Given the description of an element on the screen output the (x, y) to click on. 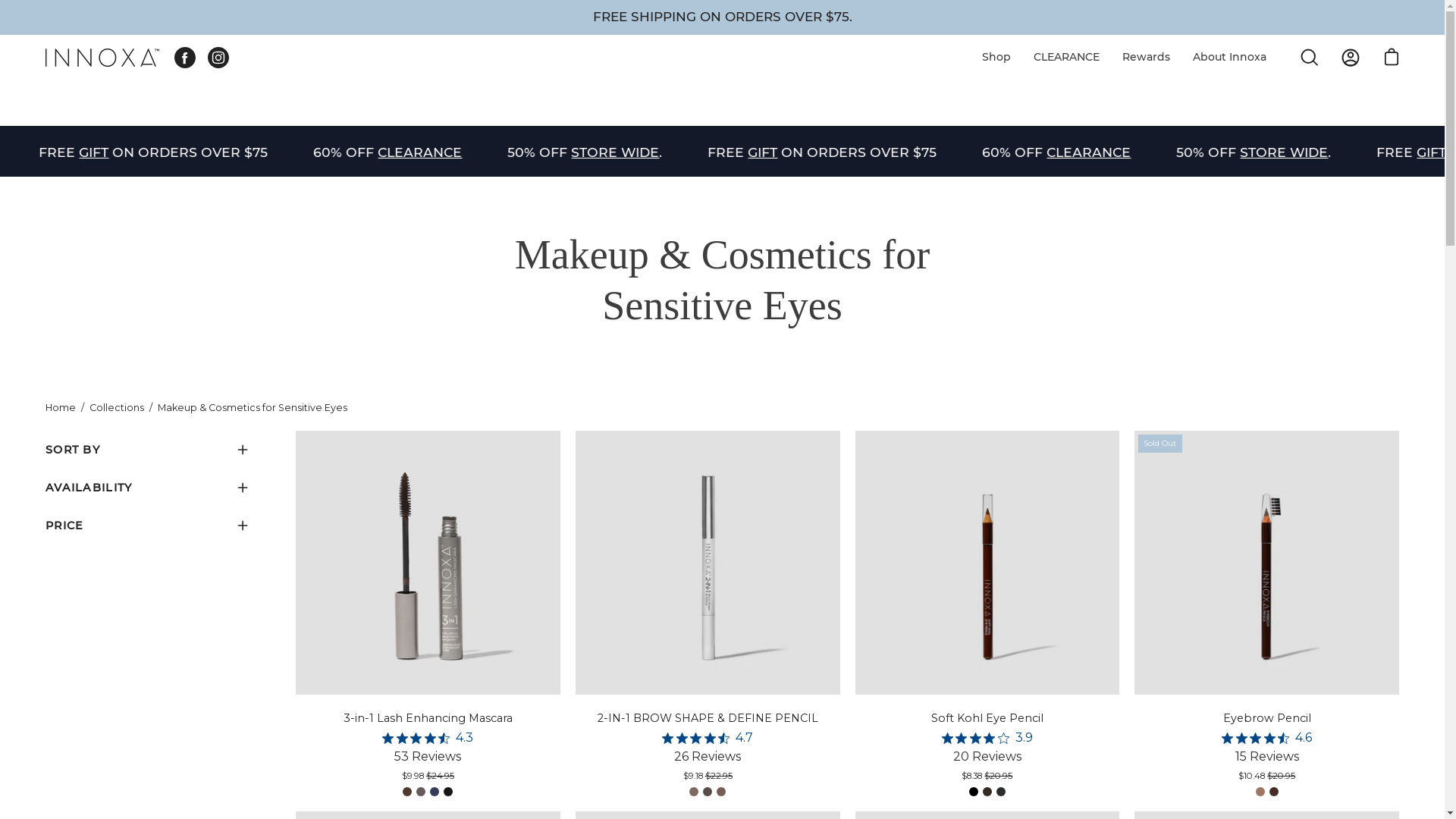
$8.38 $20.95 Element type: text (987, 776)
View Innoxa on Facebook Element type: hover (184, 57)
$9.18 $22.95 Element type: text (707, 776)
3-in-1 Lash Enhancing Mascara Element type: text (427, 718)
Soft Kohl Eye Pencil - Jet Black Element type: text (973, 791)
OPEN CART Element type: text (1391, 57)
AVAILABILITY Element type: text (147, 487)
3-in-1 Lash Enhancing Mascara - Navy Element type: text (434, 791)
Rewards Element type: text (1145, 57)
SORT BY Element type: text (147, 449)
Soft Kohl Eye Pencil - Metal Grey Element type: text (1000, 791)
GIFT Element type: text (197, 151)
CLEARANCE Element type: text (1066, 57)
CLEARANCE Element type: text (522, 151)
Shop Element type: text (996, 57)
STORE WIDE Element type: text (717, 151)
Soft Kohl Eye Pencil - Cocoa Brown Element type: text (986, 791)
STORE WIDE Element type: text (1384, 151)
3-in-1 Lash Enhancing Mascara - Black Element type: text (447, 791)
OPEN SEARCH BAR Element type: text (1309, 57)
Home Element type: text (60, 407)
Collections Element type: text (116, 407)
Eyebrow Pencil - Brownish Black Element type: text (1273, 791)
2-in-1 brow shape and define pencil - Ash Blonde Element type: text (693, 791)
3-in-1 Lash Enhancing Mascara - Brown Element type: text (406, 791)
2-in-1 brow shape and define pencil - Light Brown Element type: text (720, 791)
GIFT Element type: text (863, 151)
Eyebrow Pencil - Light Brown Element type: text (1259, 791)
STORE WIDE Element type: text (50, 151)
View Innoxa on Instagram Element type: hover (218, 57)
2-IN-1 BROW SHAPE & DEFINE PENCIL Element type: text (707, 718)
CLEARANCE Element type: text (1190, 151)
2-in-1 brow shape and define pencil - Dark Brown Element type: text (707, 791)
$9.98 $24.95 Element type: text (427, 776)
PRICE Element type: text (147, 525)
MY ACCOUNT Element type: text (1350, 57)
Soft Kohl Eye Pencil Element type: text (987, 718)
About Innoxa Element type: text (1229, 57)
3-in-1 Lash Enhancing Mascara - Brown Black Element type: text (420, 791)
Eyebrow Pencil Element type: text (1266, 718)
$10.48 $20.95 Element type: text (1266, 776)
